Given the description of an element on the screen output the (x, y) to click on. 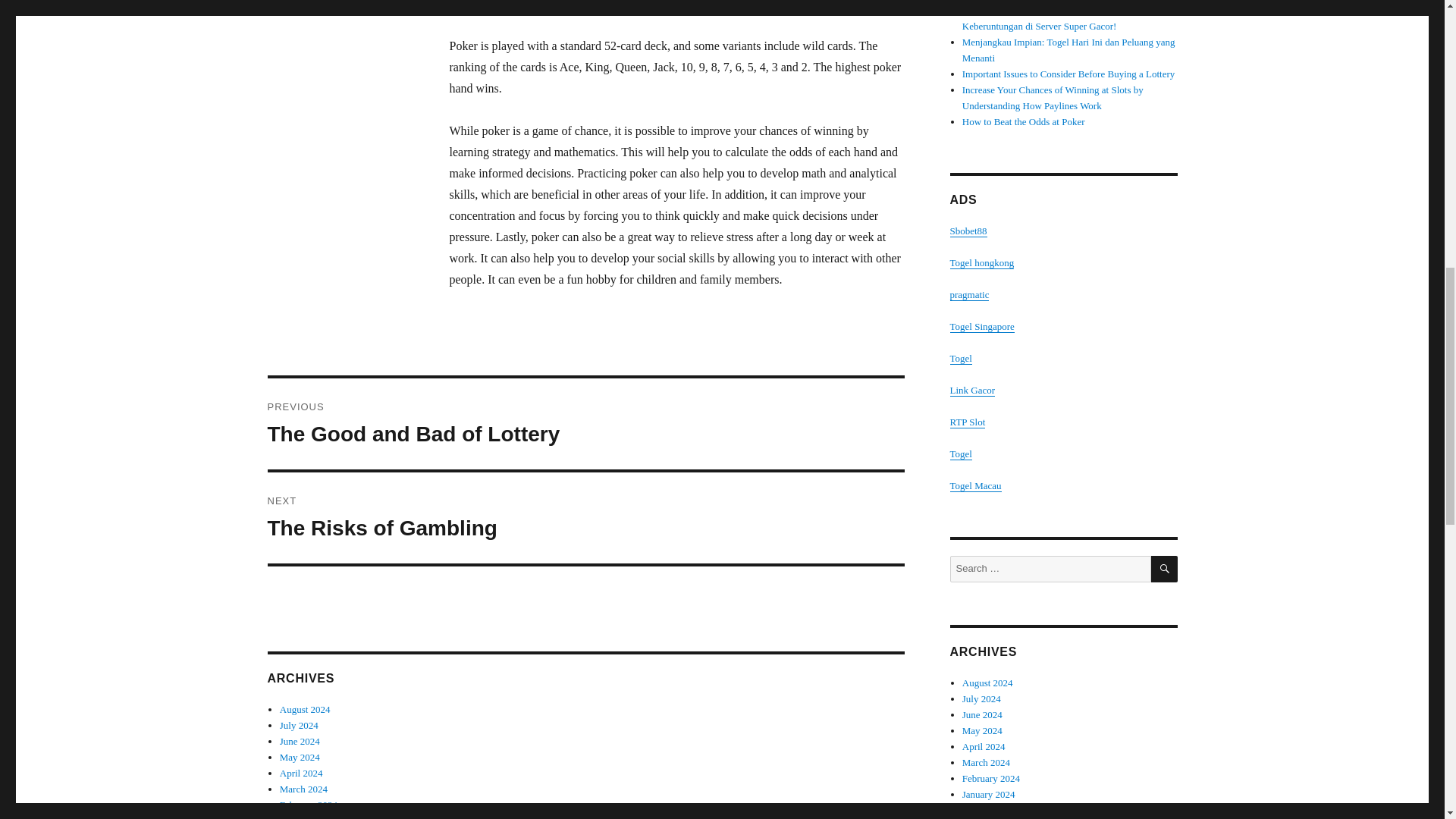
June 2024 (299, 740)
July 2024 (298, 725)
January 2024 (306, 816)
March 2024 (303, 788)
May 2024 (299, 756)
April 2024 (301, 772)
August 2024 (304, 708)
February 2024 (585, 423)
